Given the description of an element on the screen output the (x, y) to click on. 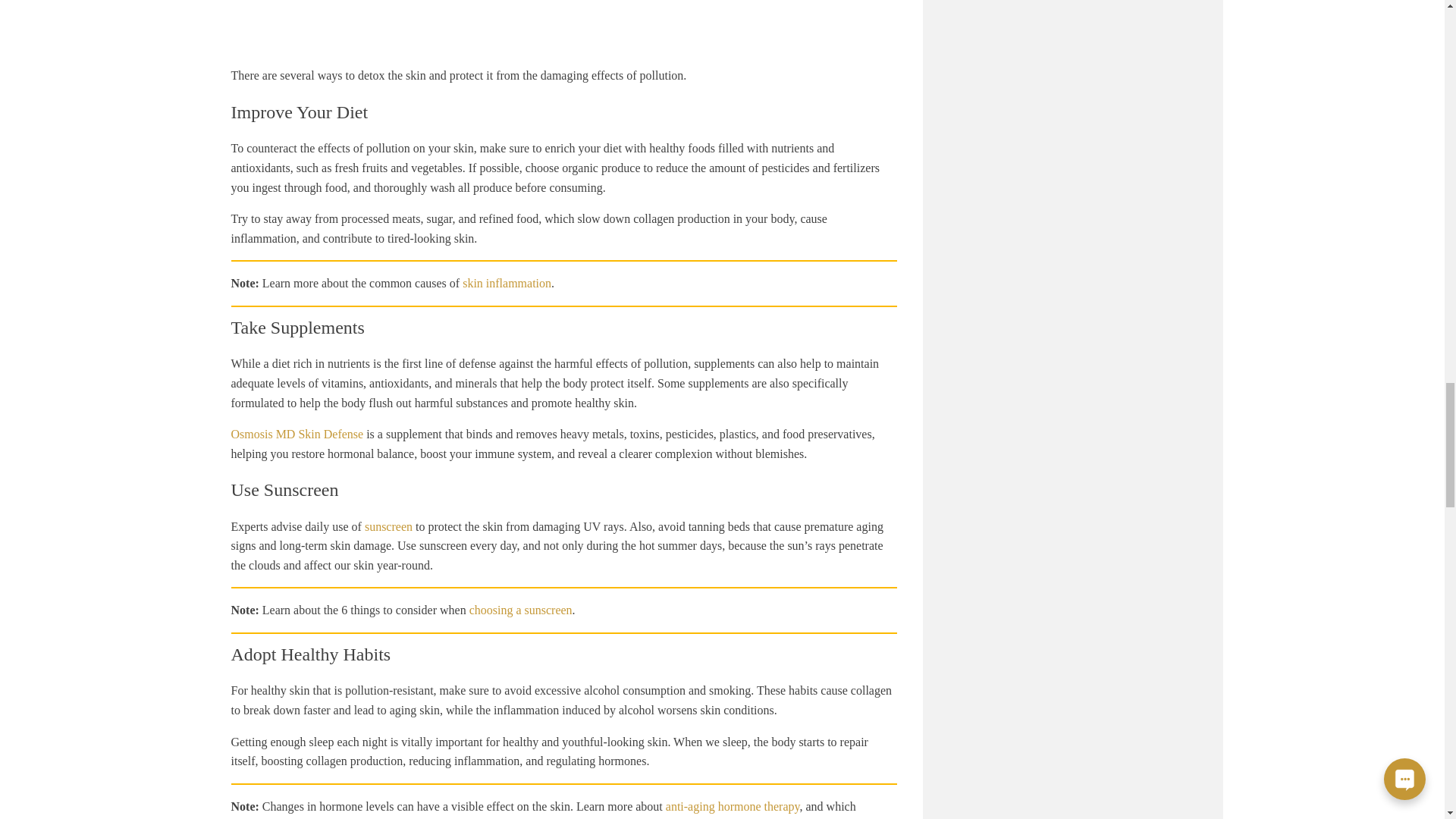
Osmosis MD Skin Defense (296, 433)
anti-aging hormone therapy (732, 806)
skin inflammation (507, 282)
choosing a sunscreen (520, 609)
sunscreen (388, 526)
